Given the description of an element on the screen output the (x, y) to click on. 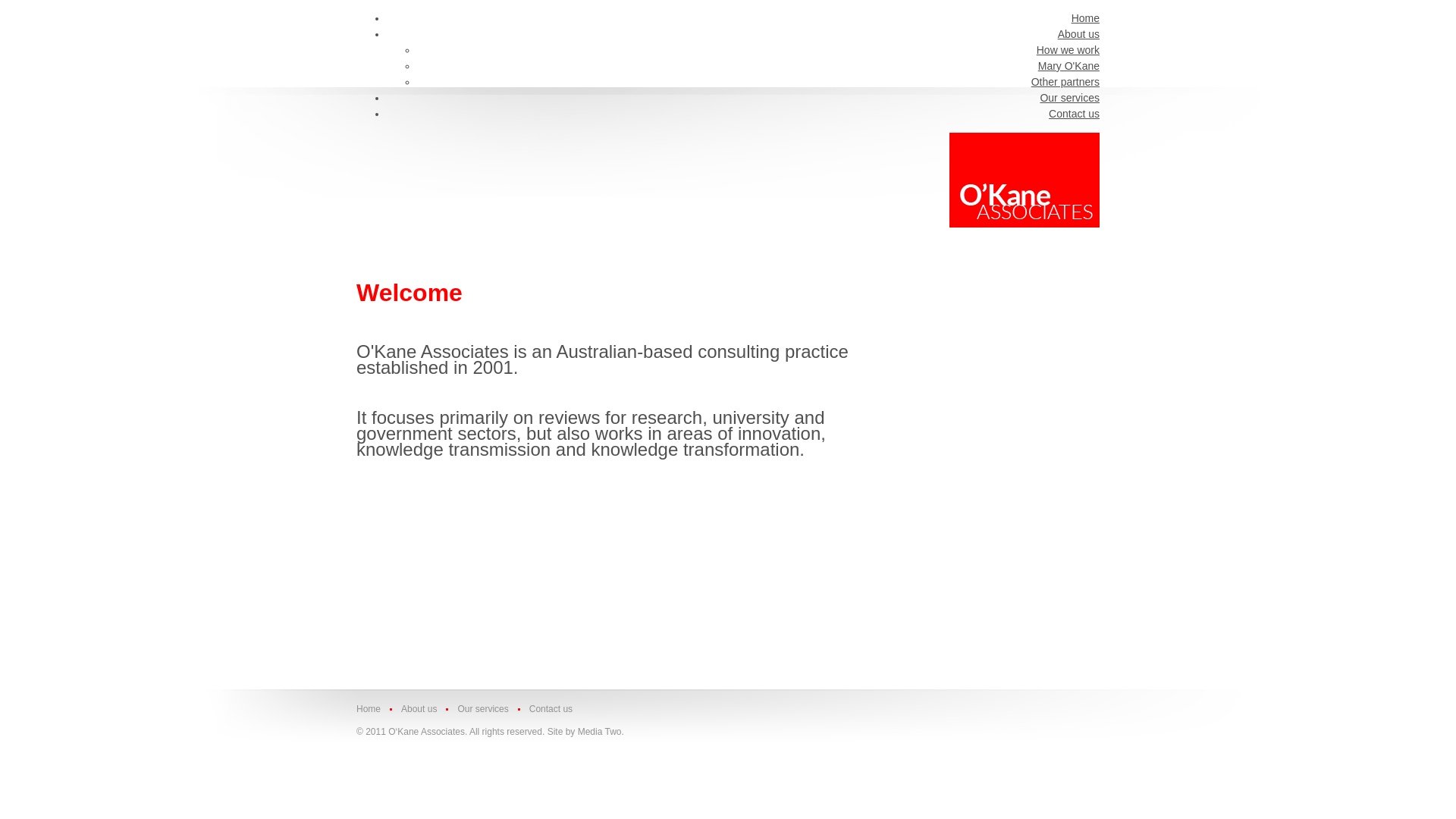
Media Two Element type: text (599, 731)
About us Element type: text (417, 708)
Our services Element type: text (481, 708)
Contact us Element type: text (549, 708)
Mary O'Kane Element type: text (1068, 65)
Our services Element type: text (1069, 97)
How we work Element type: text (1067, 49)
Home Element type: text (372, 708)
Other partners Element type: text (1065, 81)
Home Element type: text (1085, 18)
About us Element type: text (1078, 34)
Contact us Element type: text (1073, 113)
